Given the description of an element on the screen output the (x, y) to click on. 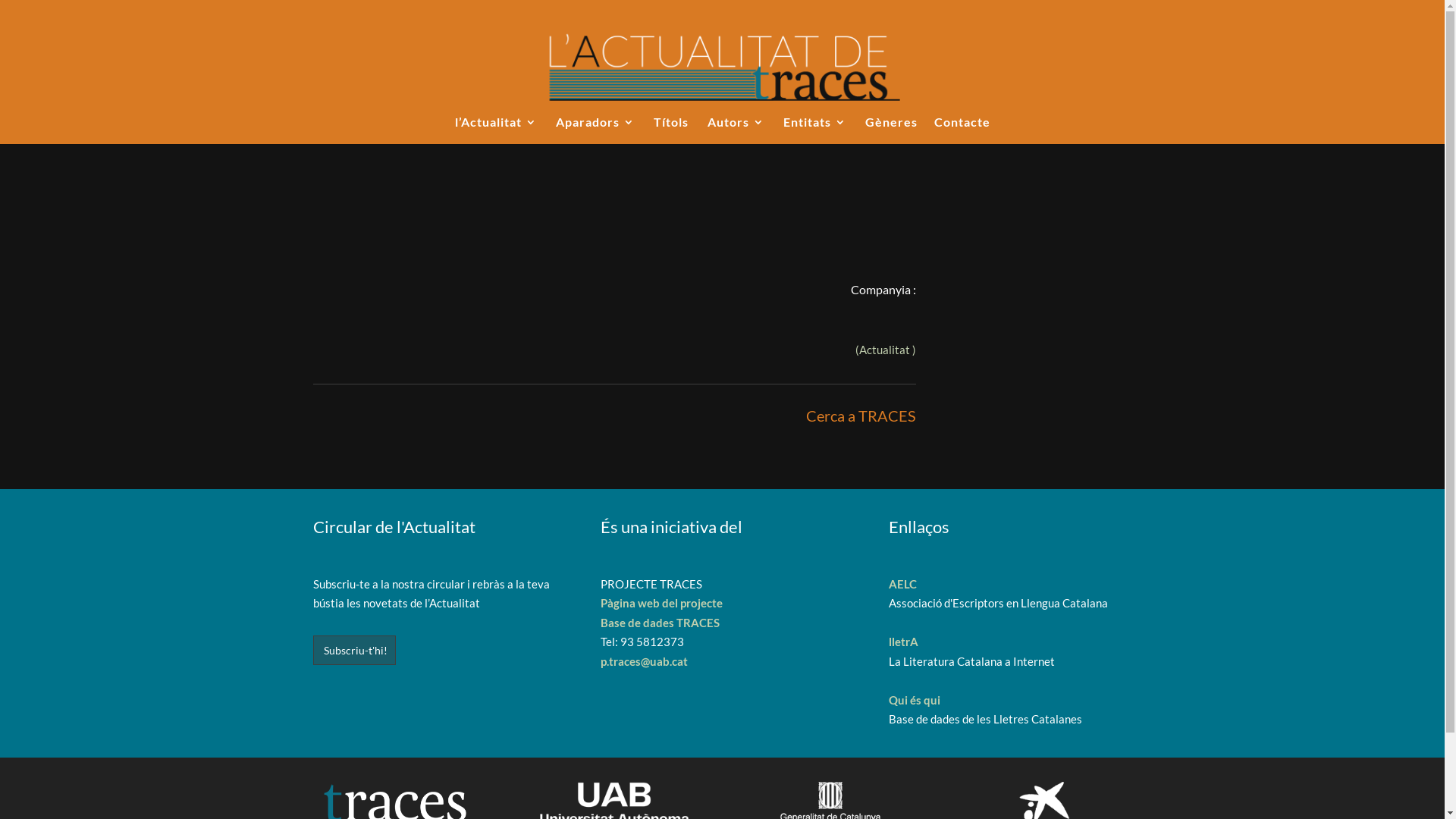
p.traces@uab.cat Element type: text (643, 661)
Contacte Element type: text (962, 130)
Base de dades TRACES Element type: text (659, 622)
Entitats Element type: text (813, 130)
Autors Element type: text (734, 130)
Cerca a TRACES Element type: text (861, 415)
Aparadors Element type: text (594, 130)
AELC Element type: text (902, 583)
lletrA Element type: text (903, 641)
